Given the description of an element on the screen output the (x, y) to click on. 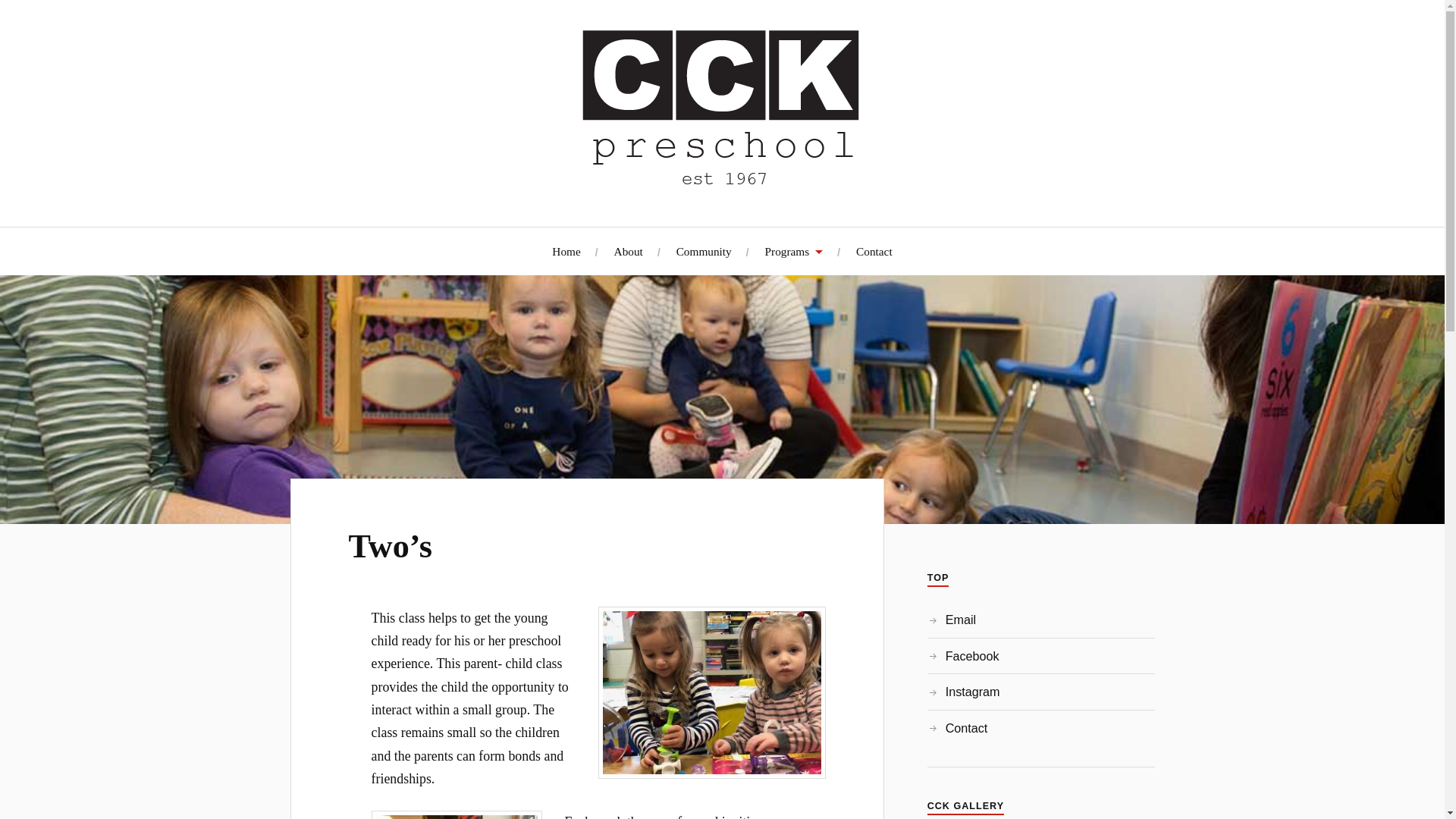
Email (959, 619)
Community (704, 251)
Home (565, 251)
Programs (794, 251)
Facebook (971, 655)
Contact (874, 251)
About (628, 251)
Instagram (972, 691)
Contact (966, 727)
